Given the description of an element on the screen output the (x, y) to click on. 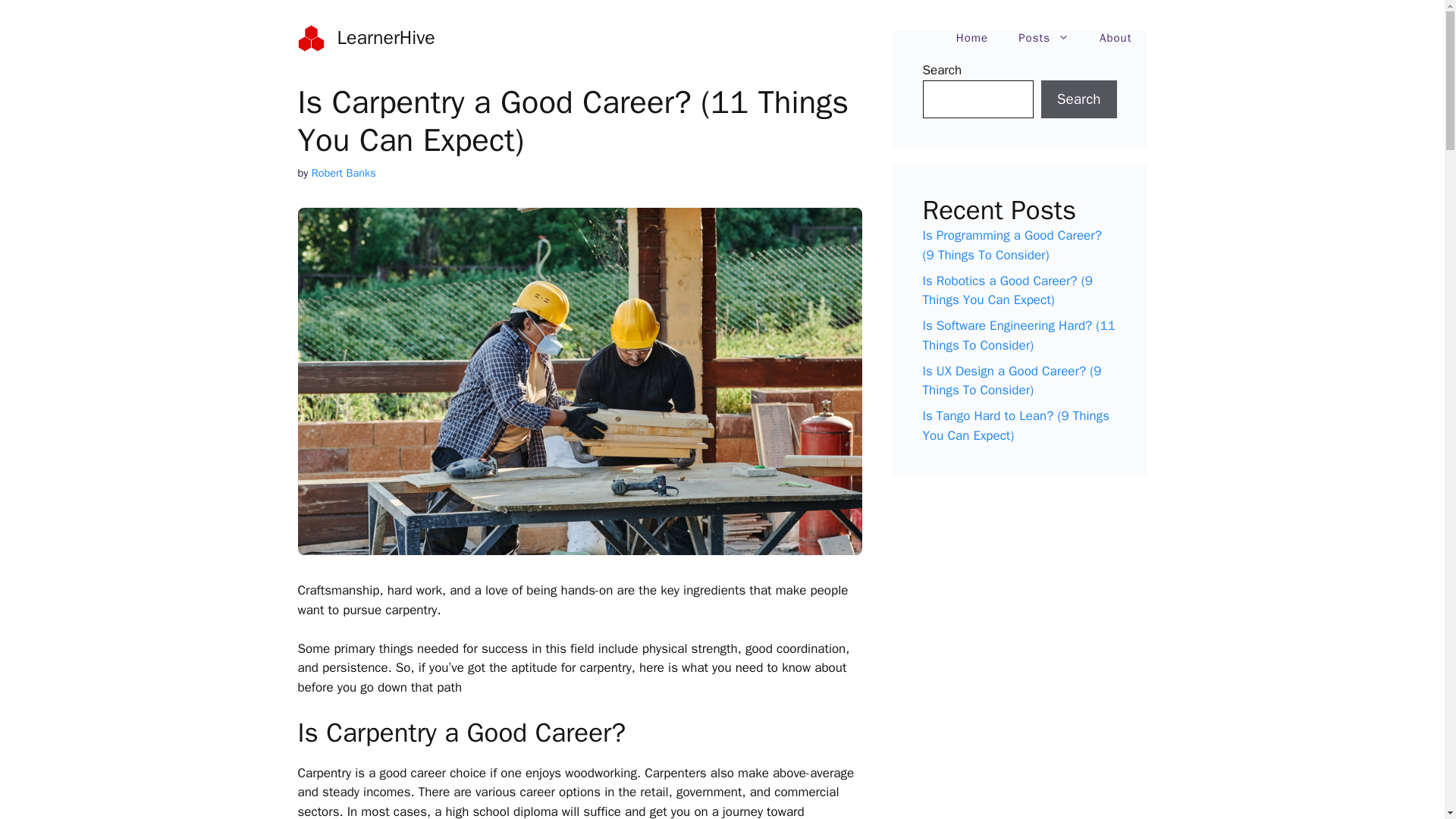
About (1115, 37)
Posts (1043, 37)
Robert Banks (343, 172)
Home (971, 37)
Search (1078, 99)
LearnerHive (384, 37)
View all posts by Robert Banks (343, 172)
